Given the description of an element on the screen output the (x, y) to click on. 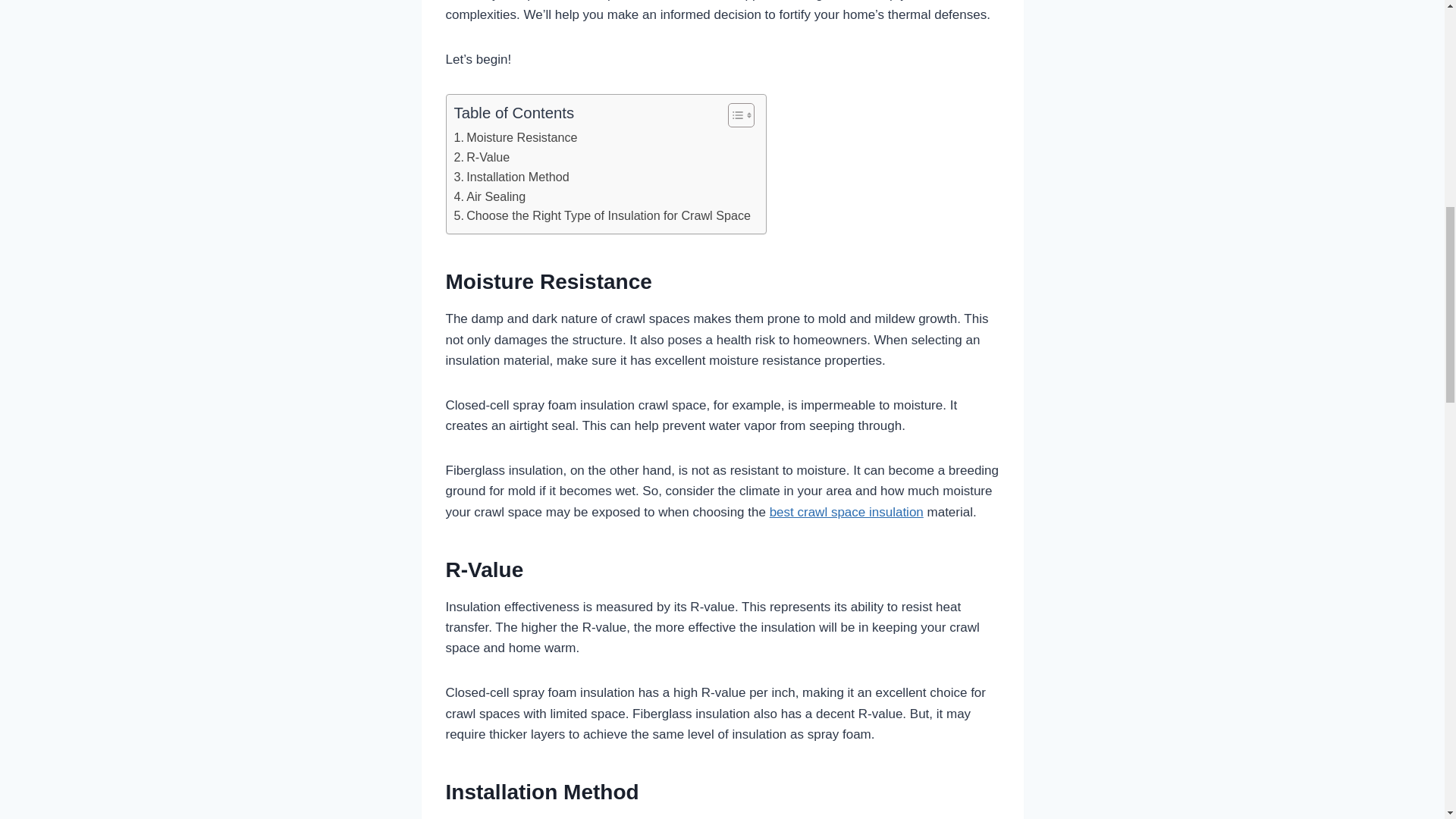
R-Value (480, 157)
R-Value (480, 157)
Air Sealing (488, 197)
Moisture Resistance (514, 137)
best crawl space insulation (846, 512)
Installation Method (510, 177)
Installation Method (510, 177)
Air Sealing (488, 197)
Choose the Right Type of Insulation for Crawl Space (600, 216)
Moisture Resistance (514, 137)
Choose the Right Type of Insulation for Crawl Space (600, 216)
